Given the description of an element on the screen output the (x, y) to click on. 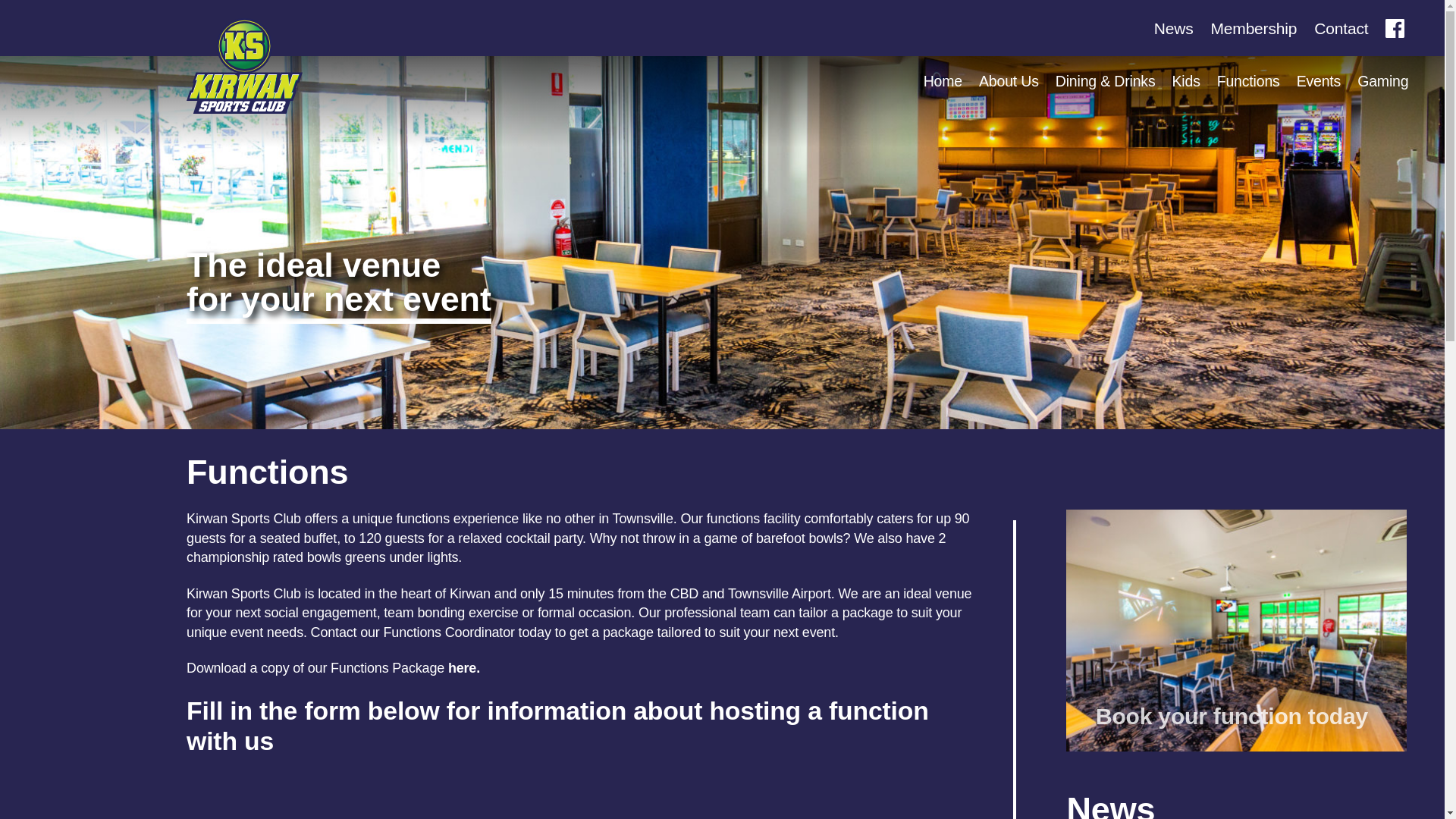
Events (1318, 81)
Membership (1253, 27)
Contact (1341, 27)
About Us (1008, 81)
Book your function today (1235, 630)
News (1173, 27)
Facebook (1396, 27)
Home (942, 81)
Kids (1185, 81)
here. (464, 667)
